Given the description of an element on the screen output the (x, y) to click on. 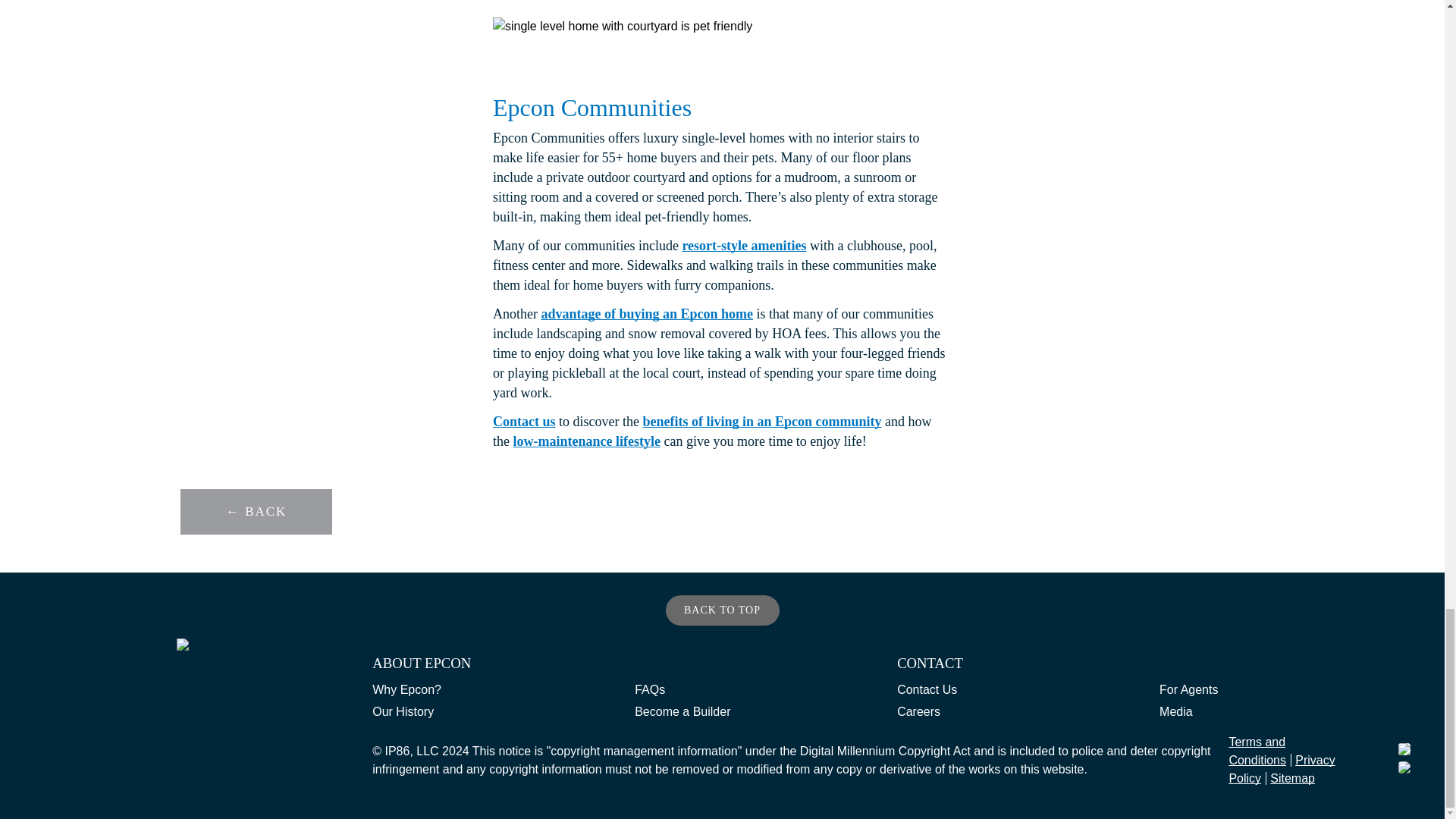
Sitemap (1292, 778)
Media (1175, 713)
advantage of buying an Epcon home (646, 313)
Become a Builder (682, 713)
Careers (918, 713)
Our History (402, 713)
Why Epcon? (406, 691)
Terms and Conditions (1256, 750)
benefits of living in an Epcon community (761, 421)
Privacy Policy (1281, 768)
